Given the description of an element on the screen output the (x, y) to click on. 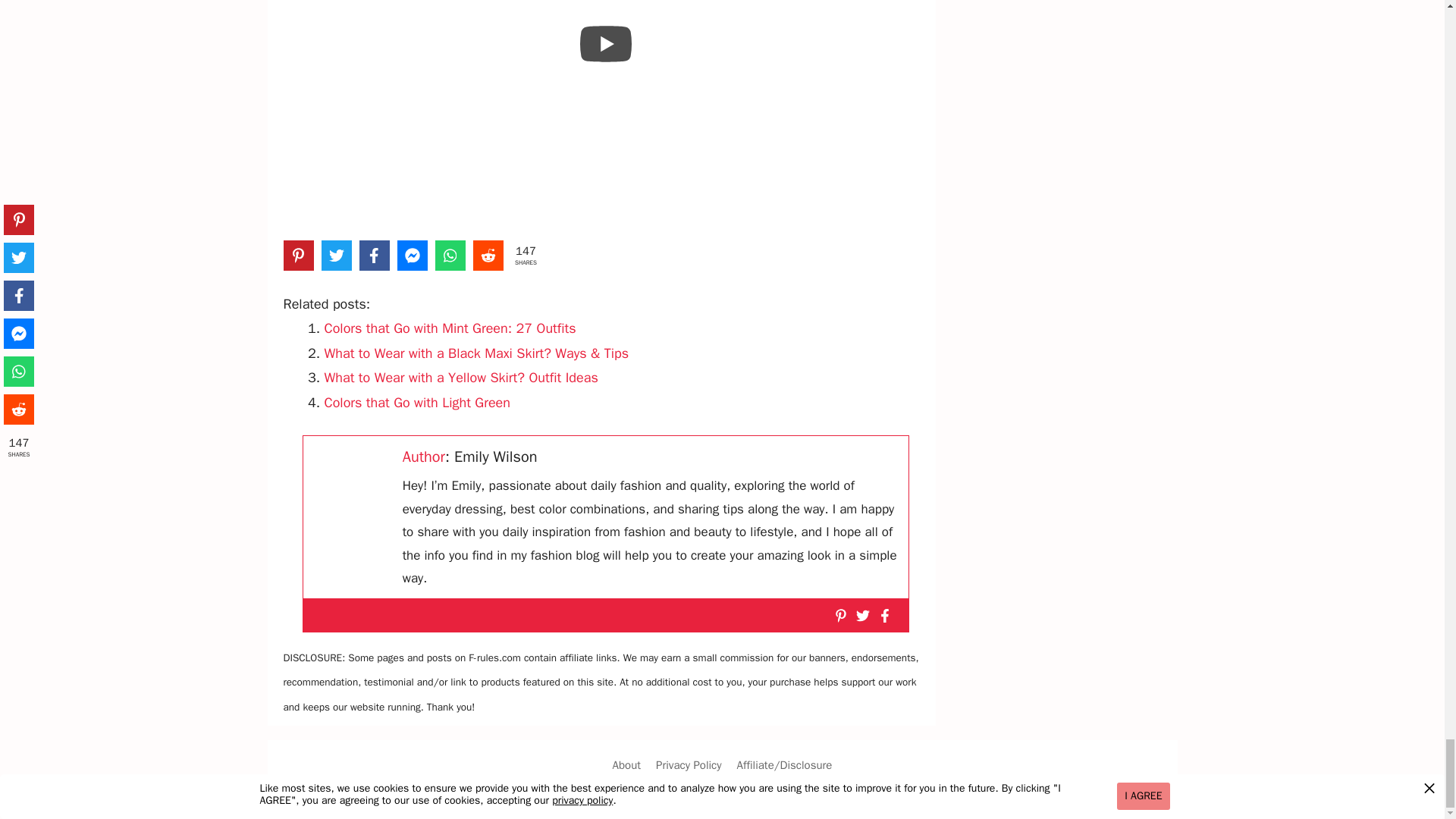
Colors that Go with Mint Green: 27 Outfits (450, 328)
What to Wear with a Yellow Skirt? Outfit Ideas (461, 377)
